Given the description of an element on the screen output the (x, y) to click on. 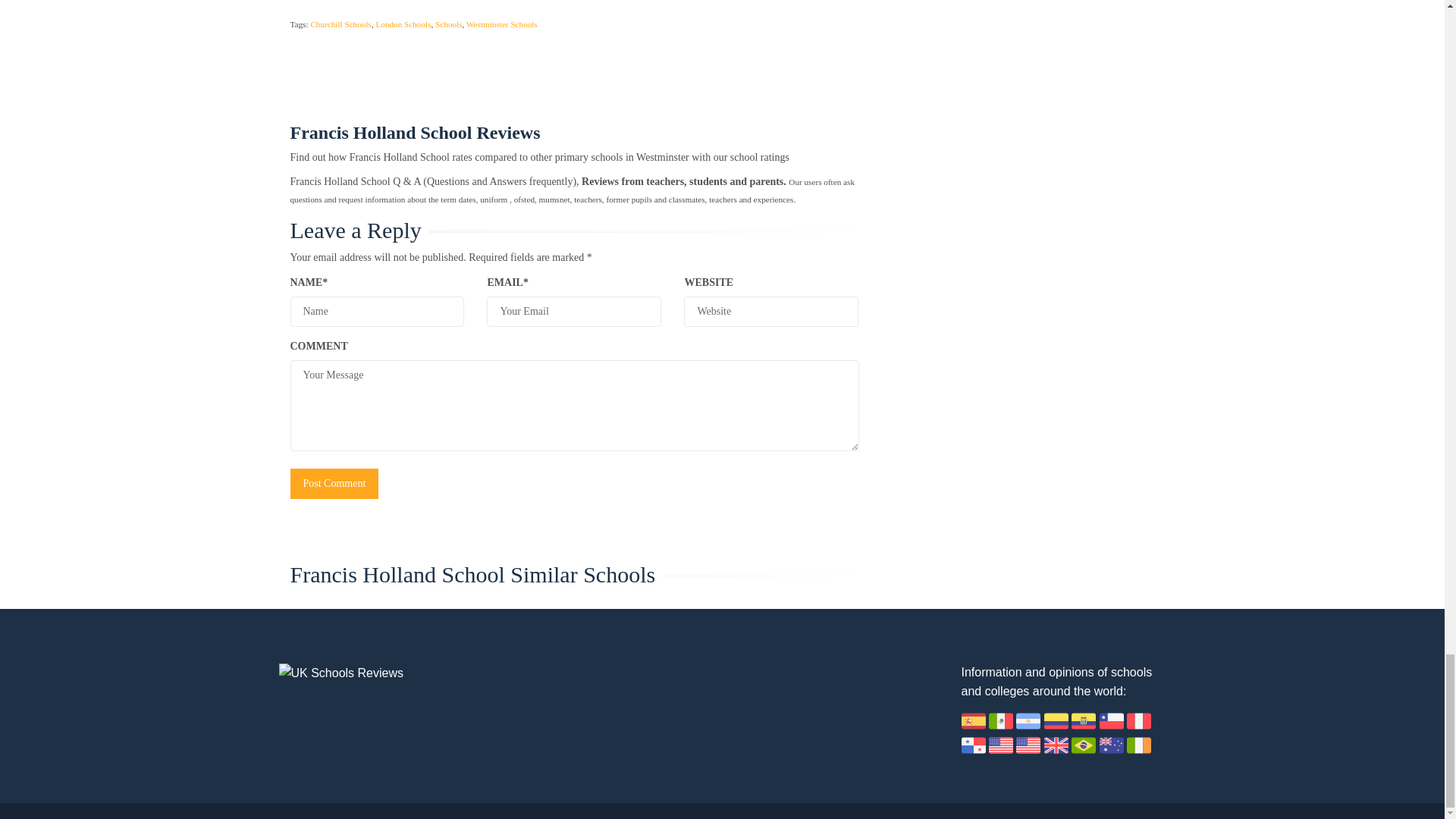
London Schools (402, 23)
Post Comment (333, 483)
Churchill Schools (340, 23)
